Given the description of an element on the screen output the (x, y) to click on. 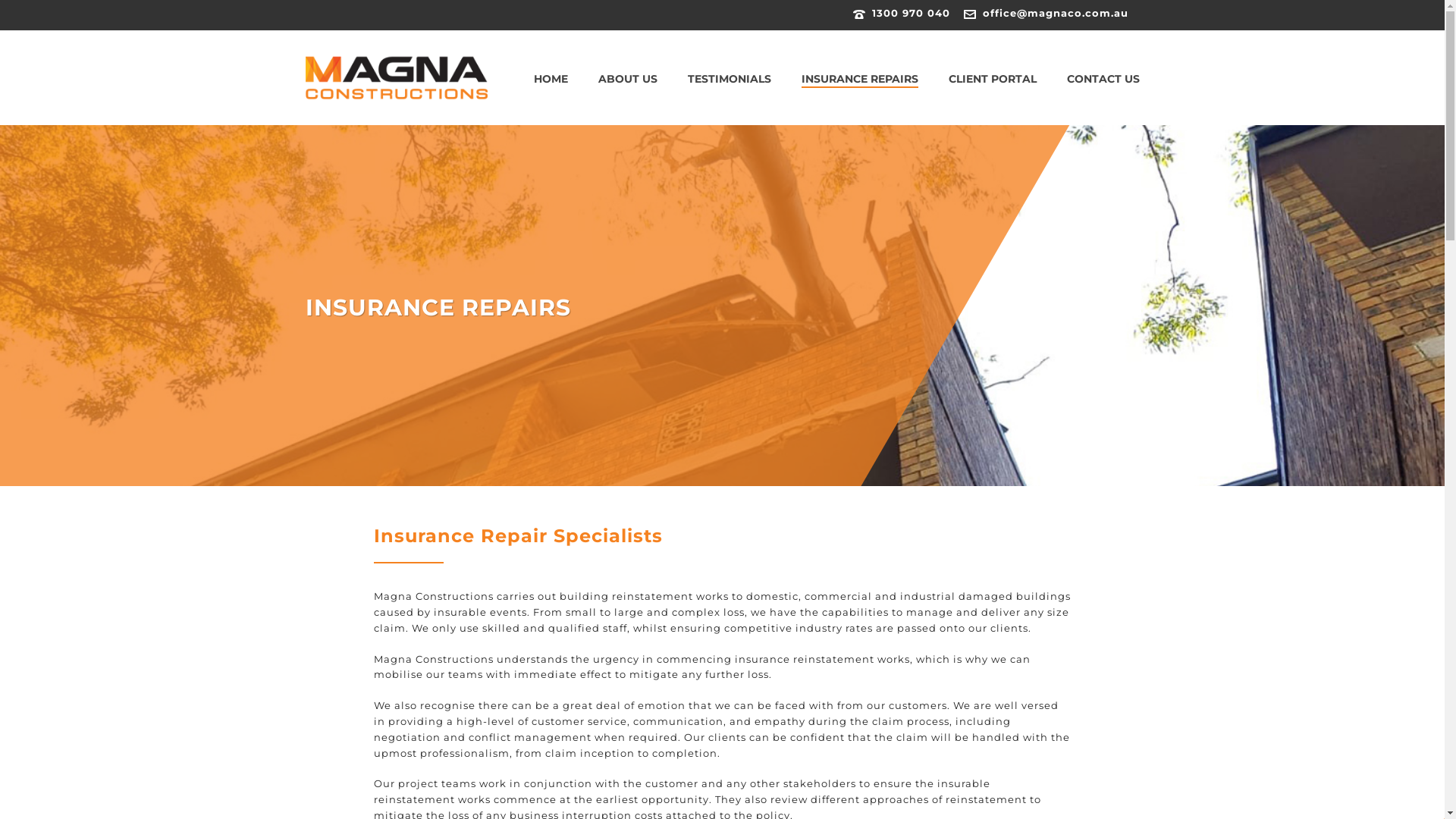
CLIENT PORTAL Element type: text (991, 78)
INSURANCE REPAIRS Element type: text (858, 78)
1300 970 040 Element type: text (911, 12)
TESTIMONIALS Element type: text (728, 78)
CONTACT US Element type: text (1102, 78)
HOME Element type: text (550, 78)
office@magnaco.com.au Element type: text (1055, 12)
ABOUT US Element type: text (626, 78)
